Given the description of an element on the screen output the (x, y) to click on. 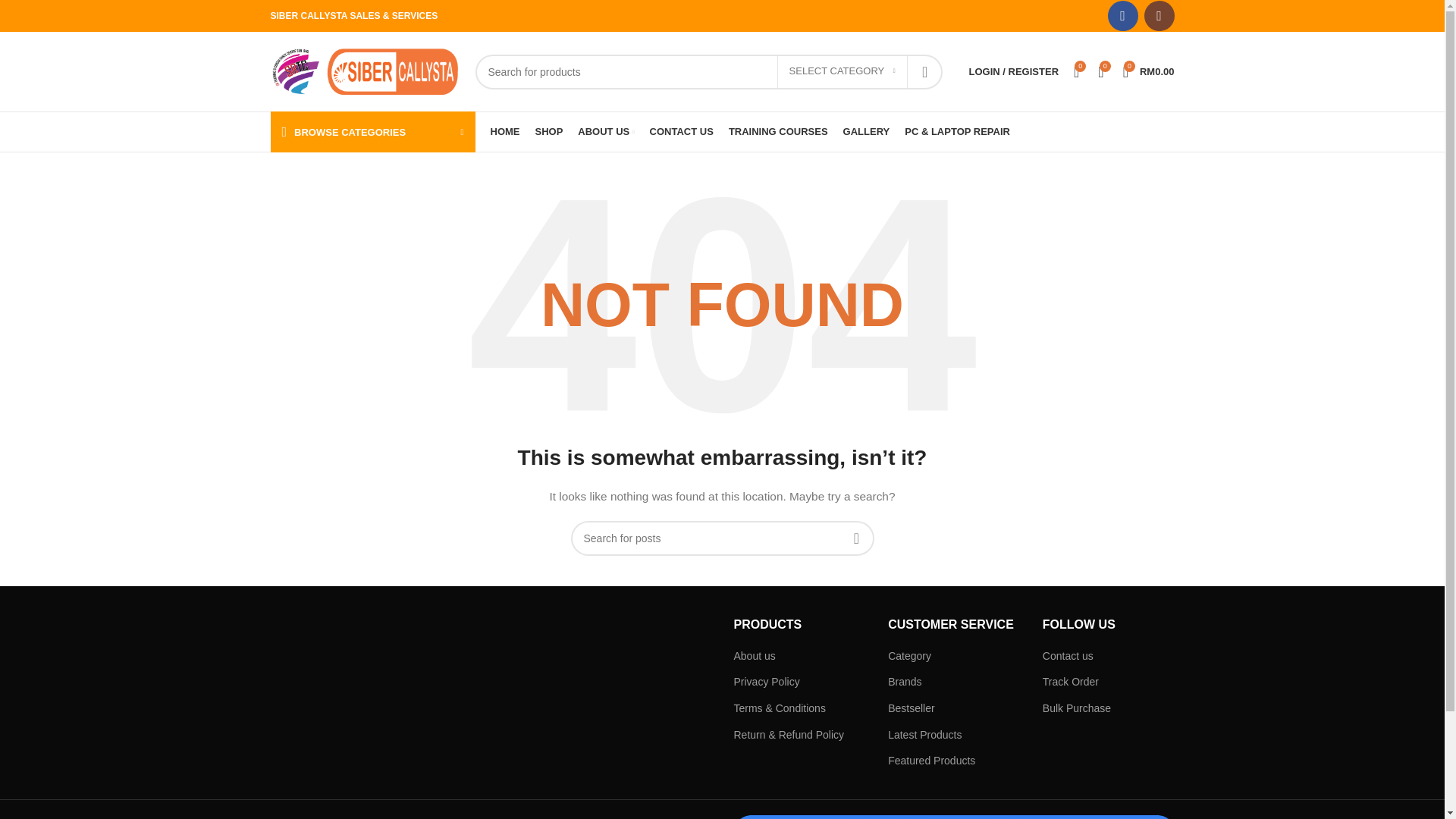
Shopping cart (1148, 71)
My account (1012, 71)
SELECT CATEGORY (842, 71)
SELECT CATEGORY (842, 71)
Search for products (708, 71)
Search for posts (721, 538)
